Given the description of an element on the screen output the (x, y) to click on. 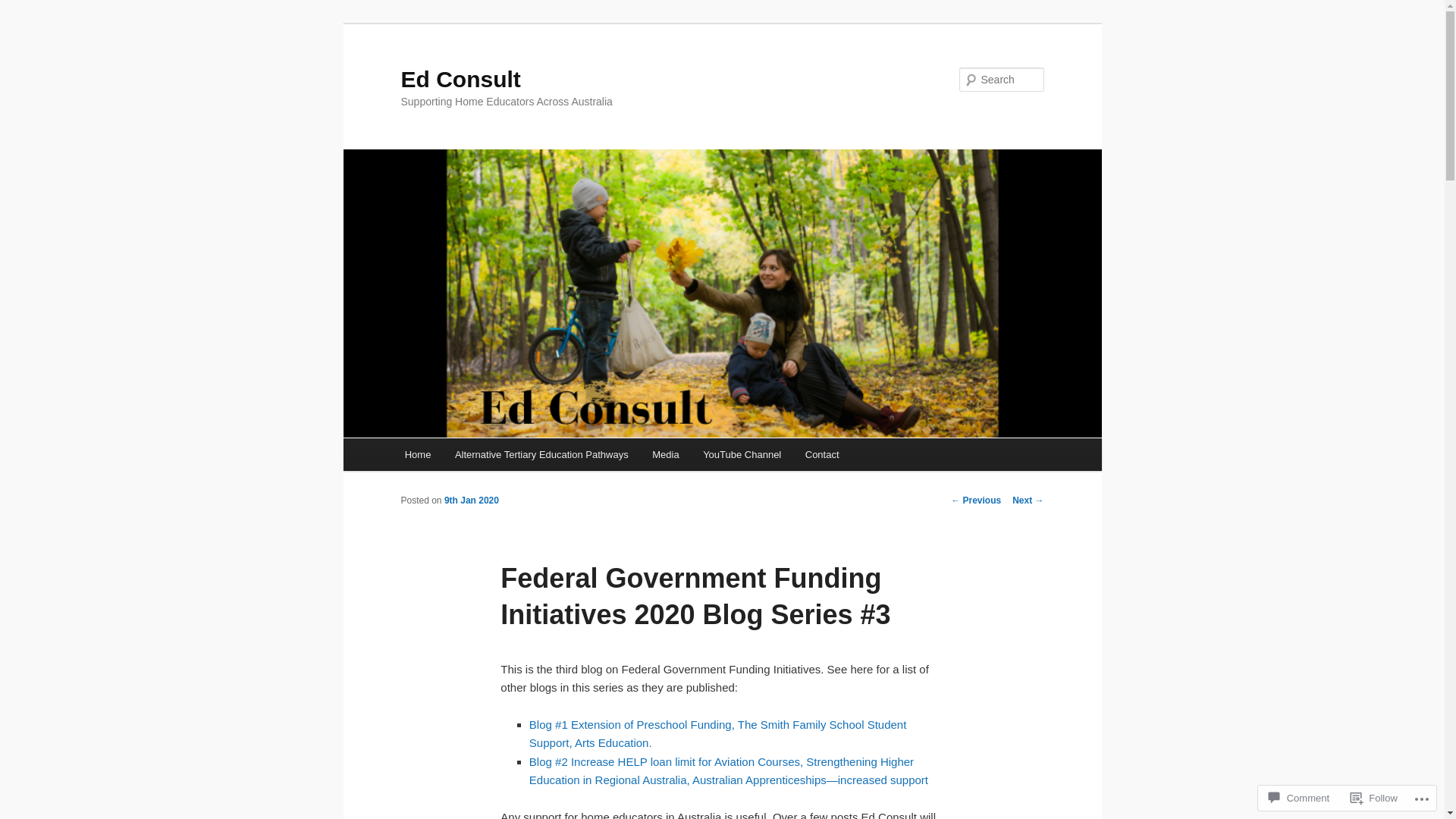
Comment Element type: text (1298, 797)
YouTube Channel Element type: text (741, 454)
9th Jan 2020 Element type: text (471, 500)
Ed Consult Element type: text (460, 78)
Home Element type: text (417, 454)
Follow Element type: text (1373, 797)
Alternative Tertiary Education Pathways Element type: text (541, 454)
Media Element type: text (665, 454)
Skip to primary content Element type: text (22, 22)
Search Element type: text (24, 8)
Contact Element type: text (821, 454)
